Given the description of an element on the screen output the (x, y) to click on. 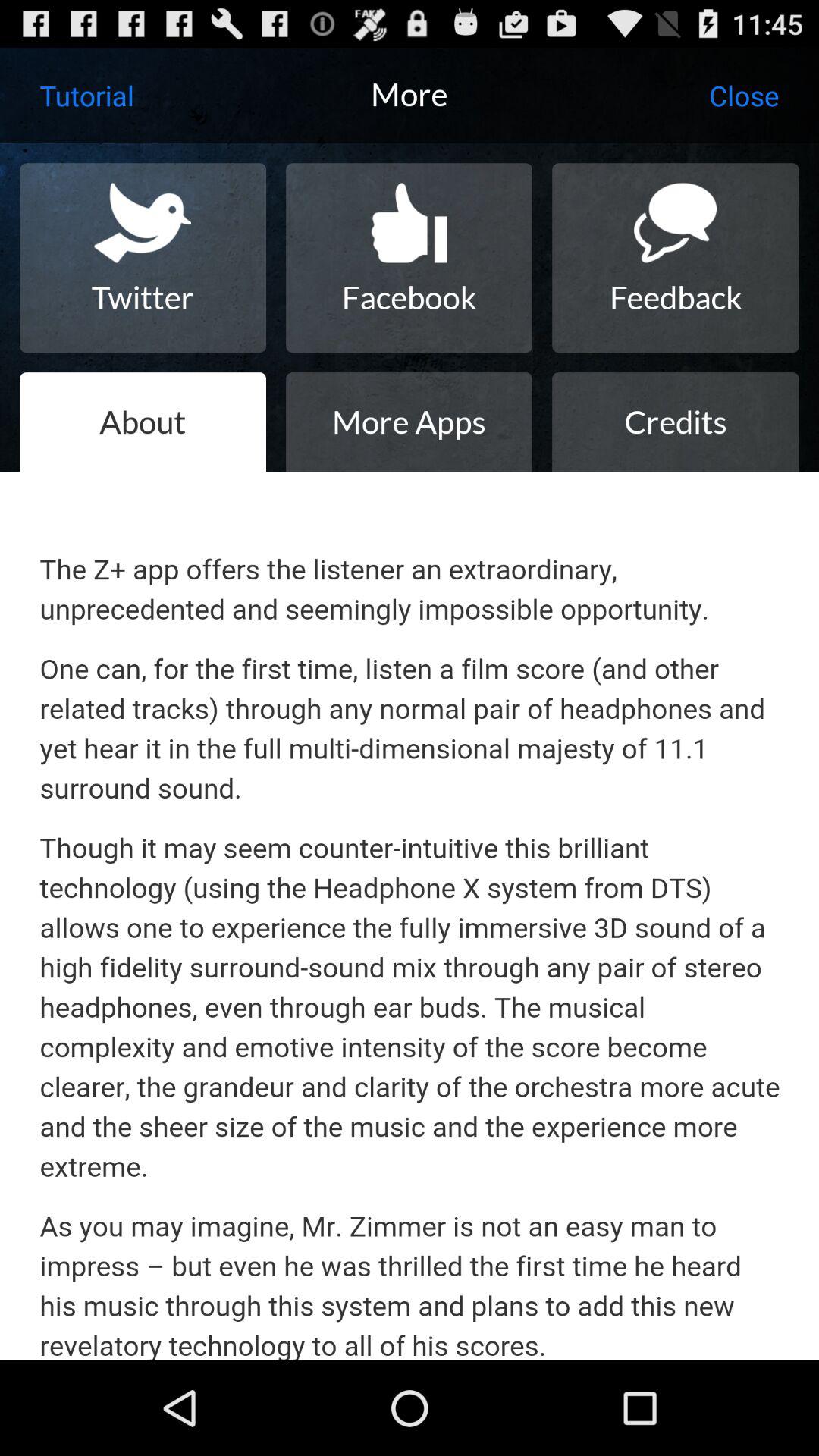
press icon above the credits item (675, 257)
